Given the description of an element on the screen output the (x, y) to click on. 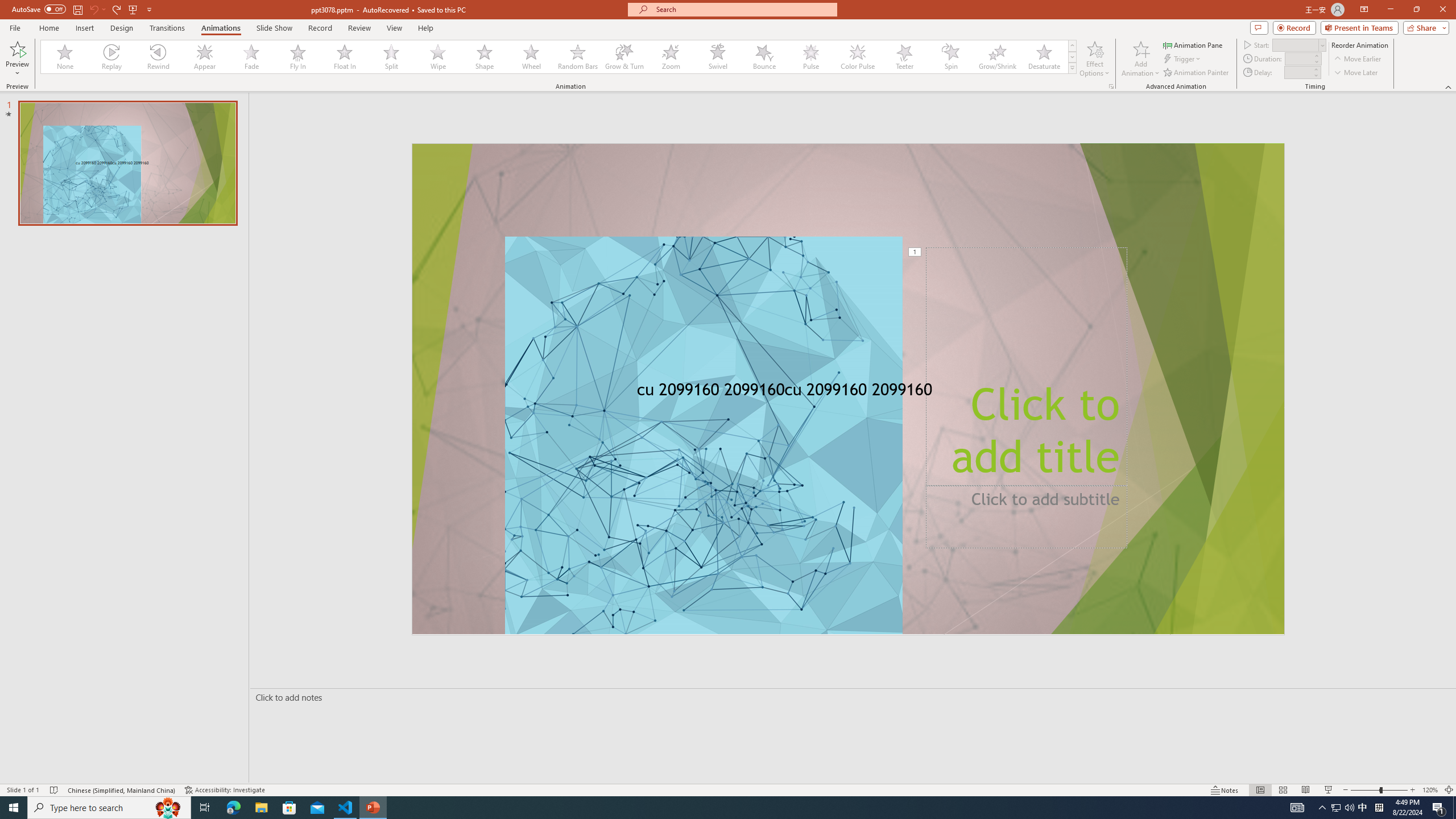
Move Earlier (1357, 58)
Zoom 120% (1430, 790)
Wipe (437, 56)
Swivel (717, 56)
Fly In (298, 56)
Split (391, 56)
None (65, 56)
Replay (111, 56)
Rewind (158, 56)
